Given the description of an element on the screen output the (x, y) to click on. 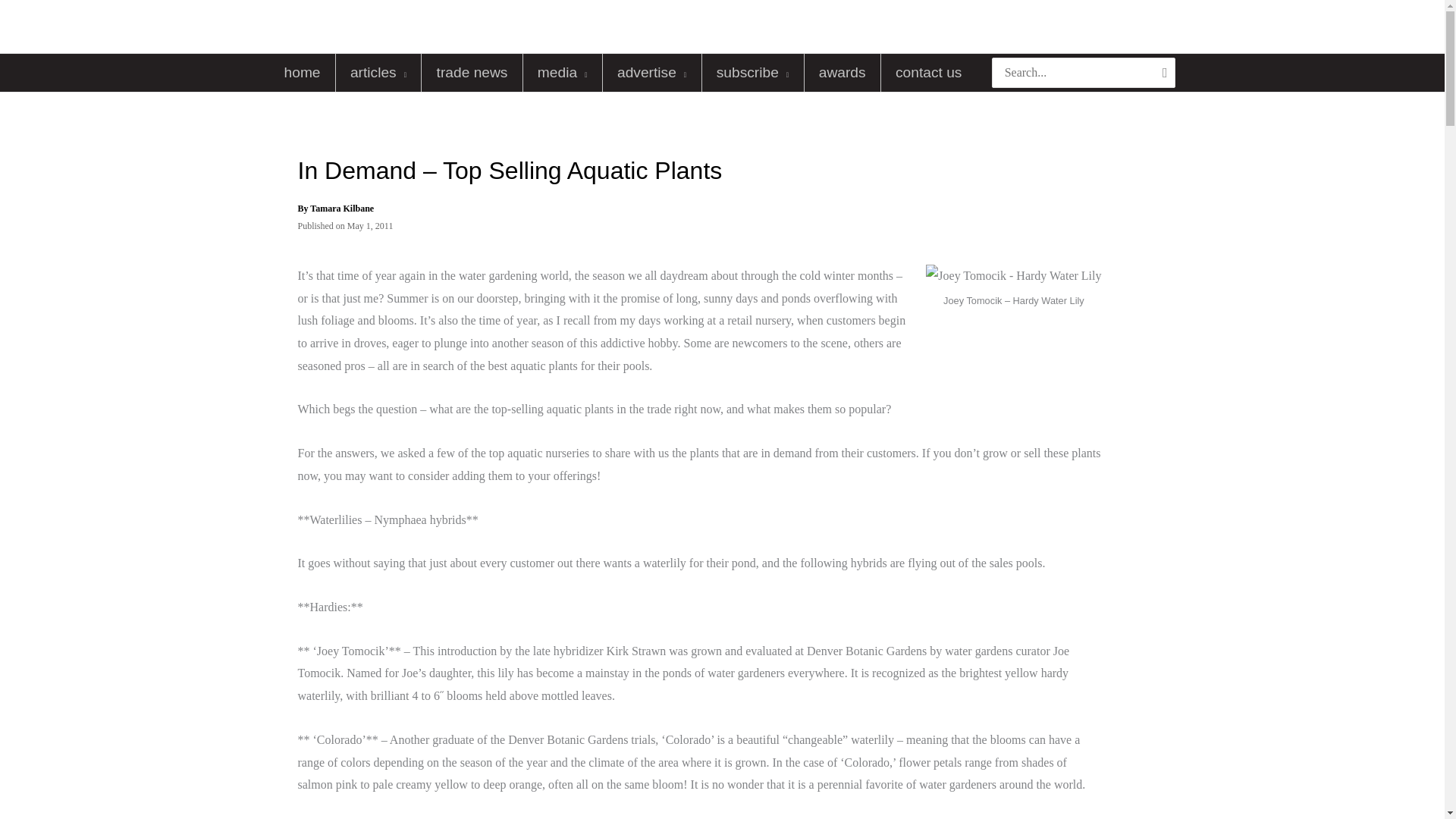
trade news (471, 72)
subscribe (752, 72)
contact us (928, 72)
articles (379, 72)
media (562, 72)
Search (1164, 72)
advertise (651, 72)
home (301, 72)
awards (842, 72)
